Given the description of an element on the screen output the (x, y) to click on. 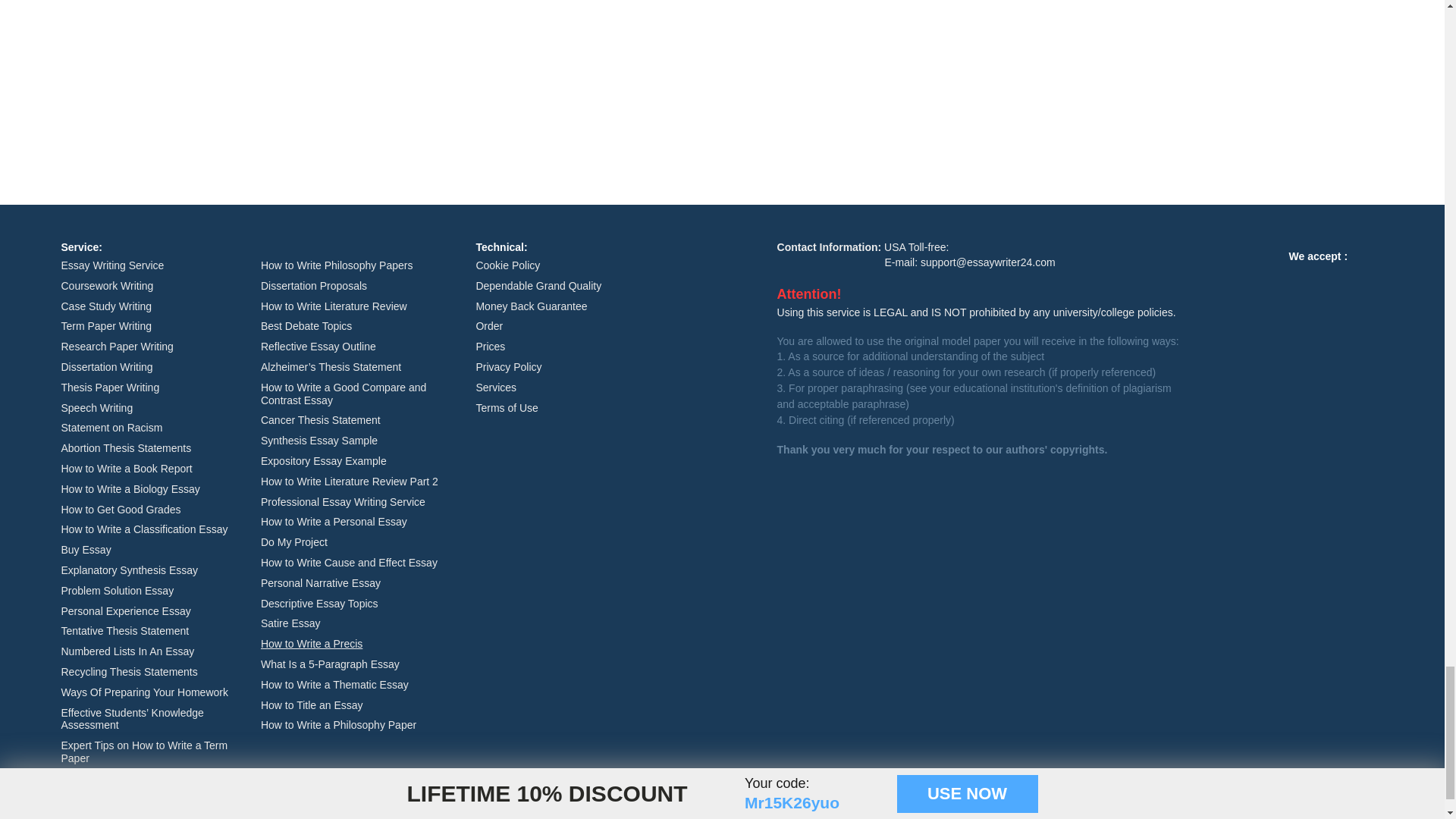
Case Study Writing (106, 306)
Dissertation Proposals (313, 285)
Best Debate Topics (306, 326)
Synthesis Essay Sample (318, 440)
How to Write Literature Review (333, 306)
How to Write a Good Compare and Contrast Essay (343, 393)
Speech Writing (96, 408)
How to Get Good Grades (120, 509)
Ways Of Preparing Your Homework (144, 692)
Expert Tips on How to Write a Term Paper (144, 751)
